Given the description of an element on the screen output the (x, y) to click on. 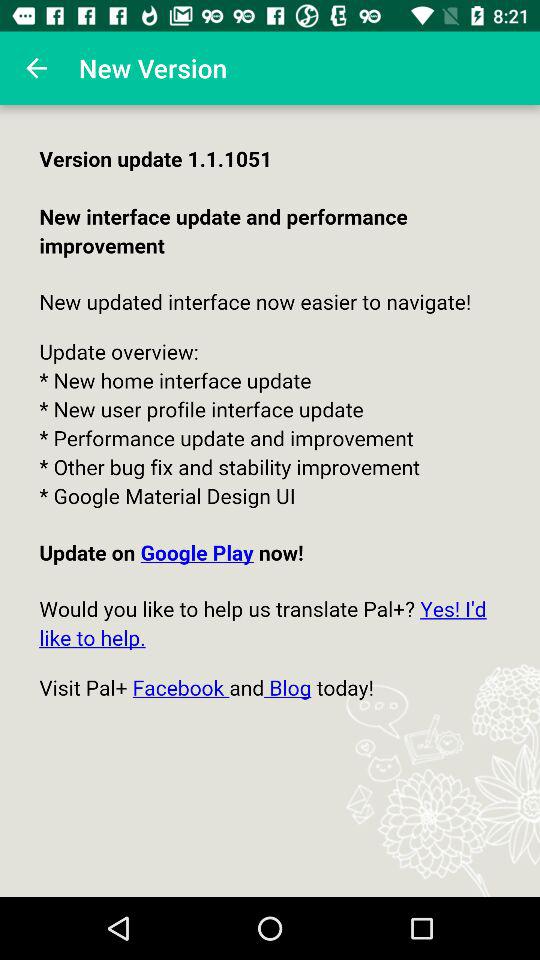
colour pinter (270, 501)
